Given the description of an element on the screen output the (x, y) to click on. 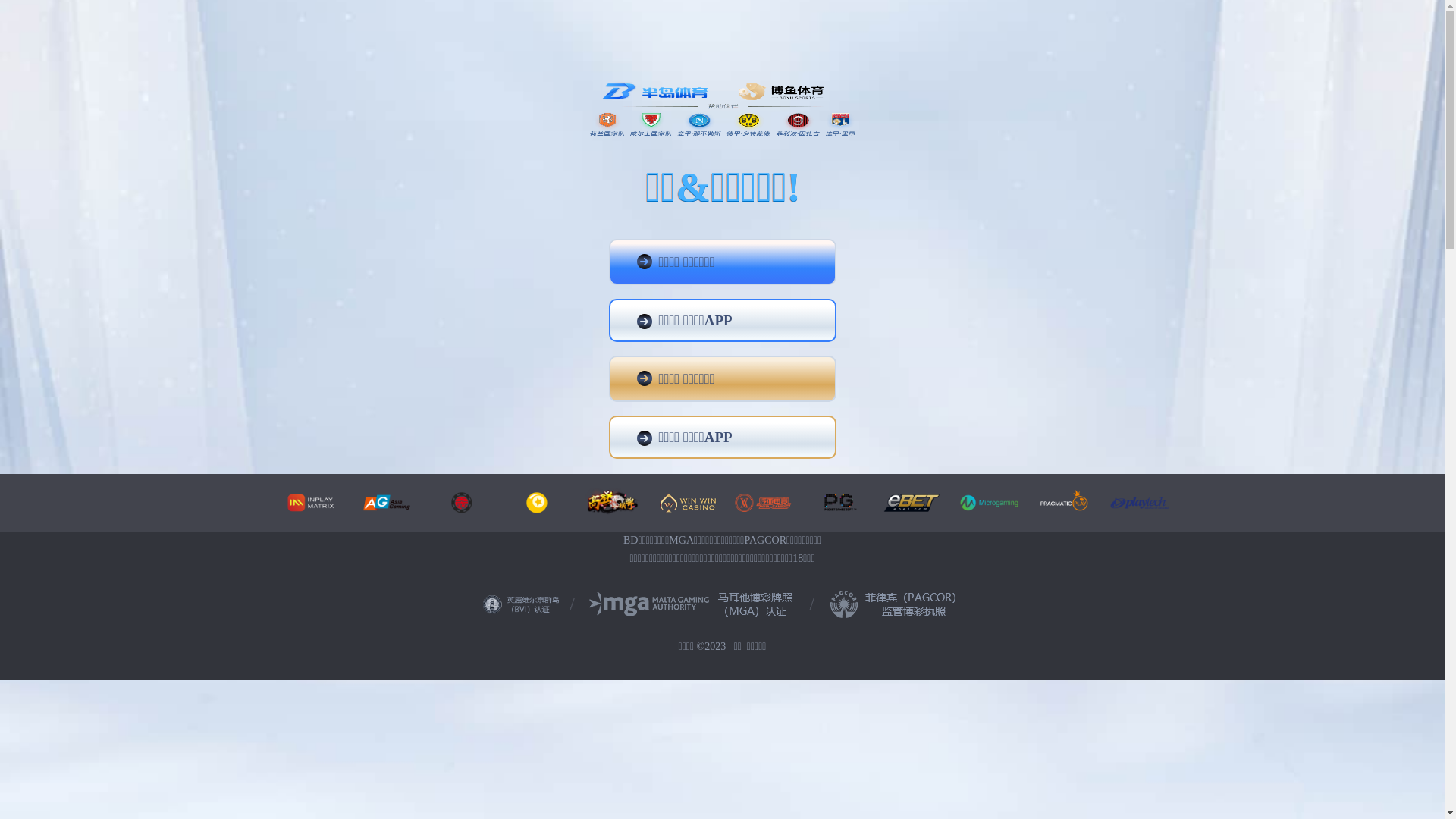
2 Element type: text (741, 627)
1 Element type: text (726, 627)
